Given the description of an element on the screen output the (x, y) to click on. 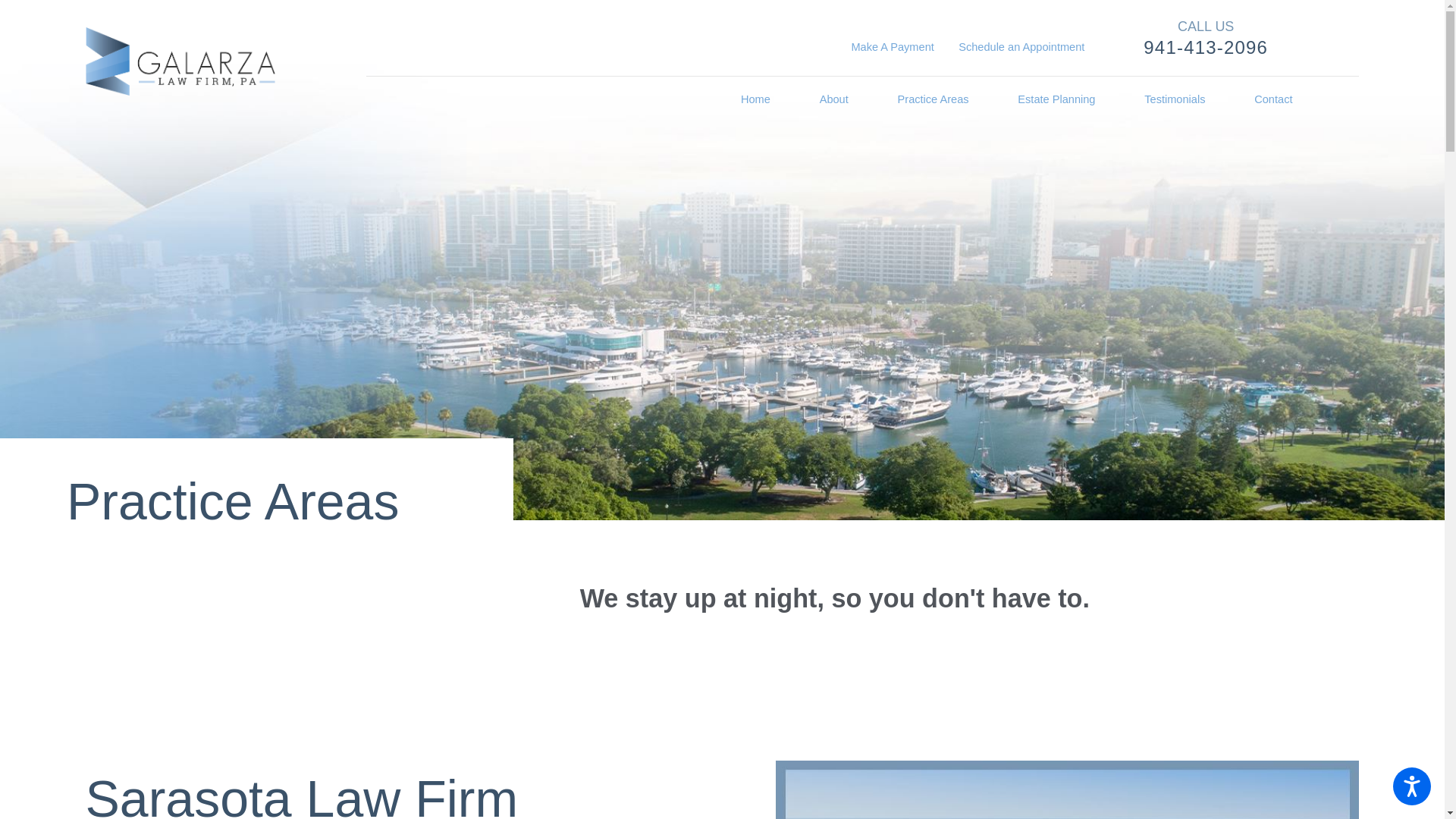
Testimonials (1174, 99)
Practice Areas (933, 99)
941-413-2096 (1205, 47)
Make A Payment (891, 46)
Galarza Law, PA (179, 61)
Estate Planning (1055, 99)
Open the accessibility options menu (1412, 786)
Schedule an Appointment (1021, 46)
